Given the description of an element on the screen output the (x, y) to click on. 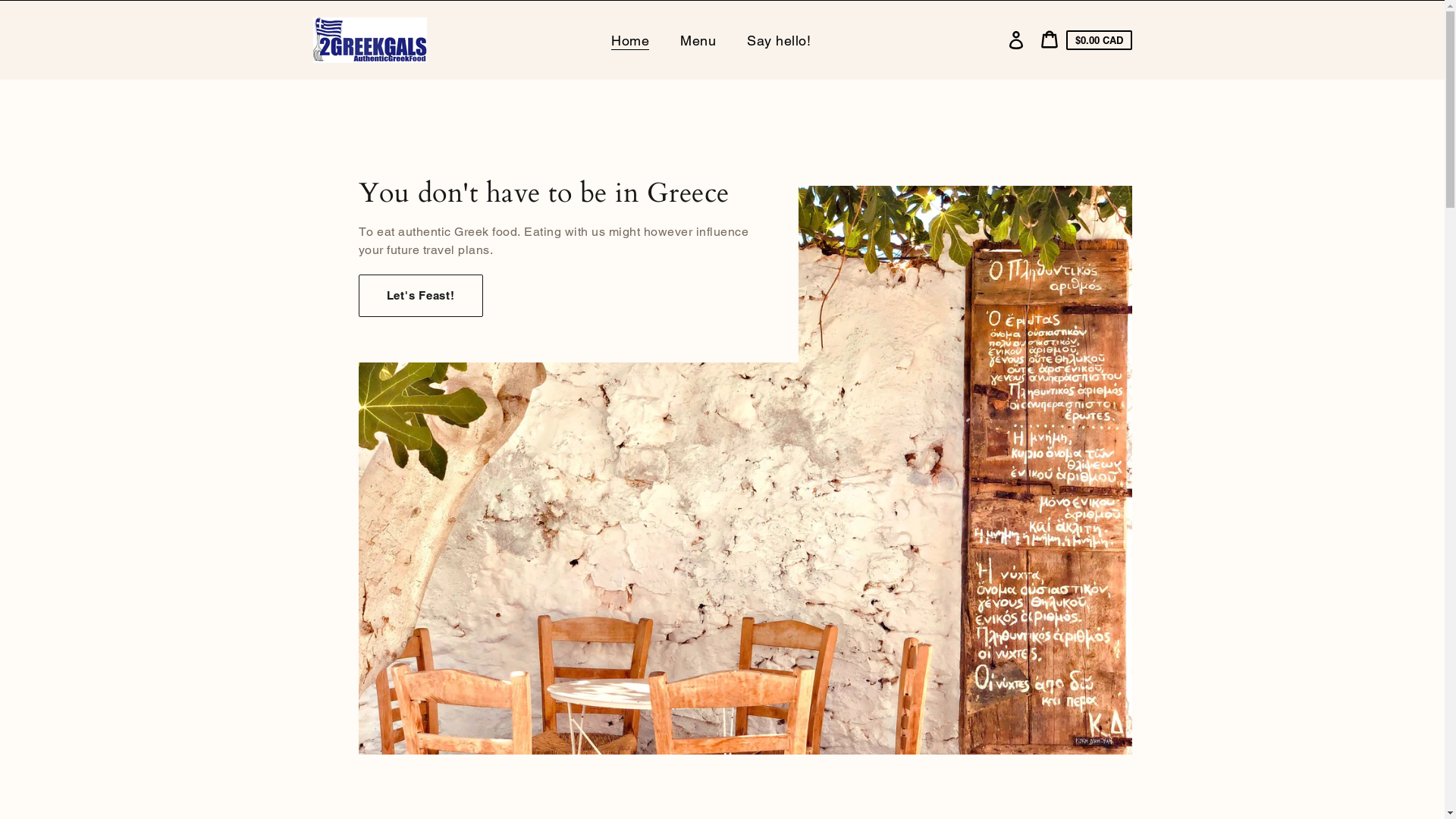
Cart
Cart price
$0.00 CAD Element type: text (1085, 40)
Let'S Feast! Element type: text (419, 295)
Home Element type: text (631, 40)
Menu Element type: text (699, 40)
Say hello! Element type: text (780, 40)
Log in Element type: text (1015, 39)
